Given the description of an element on the screen output the (x, y) to click on. 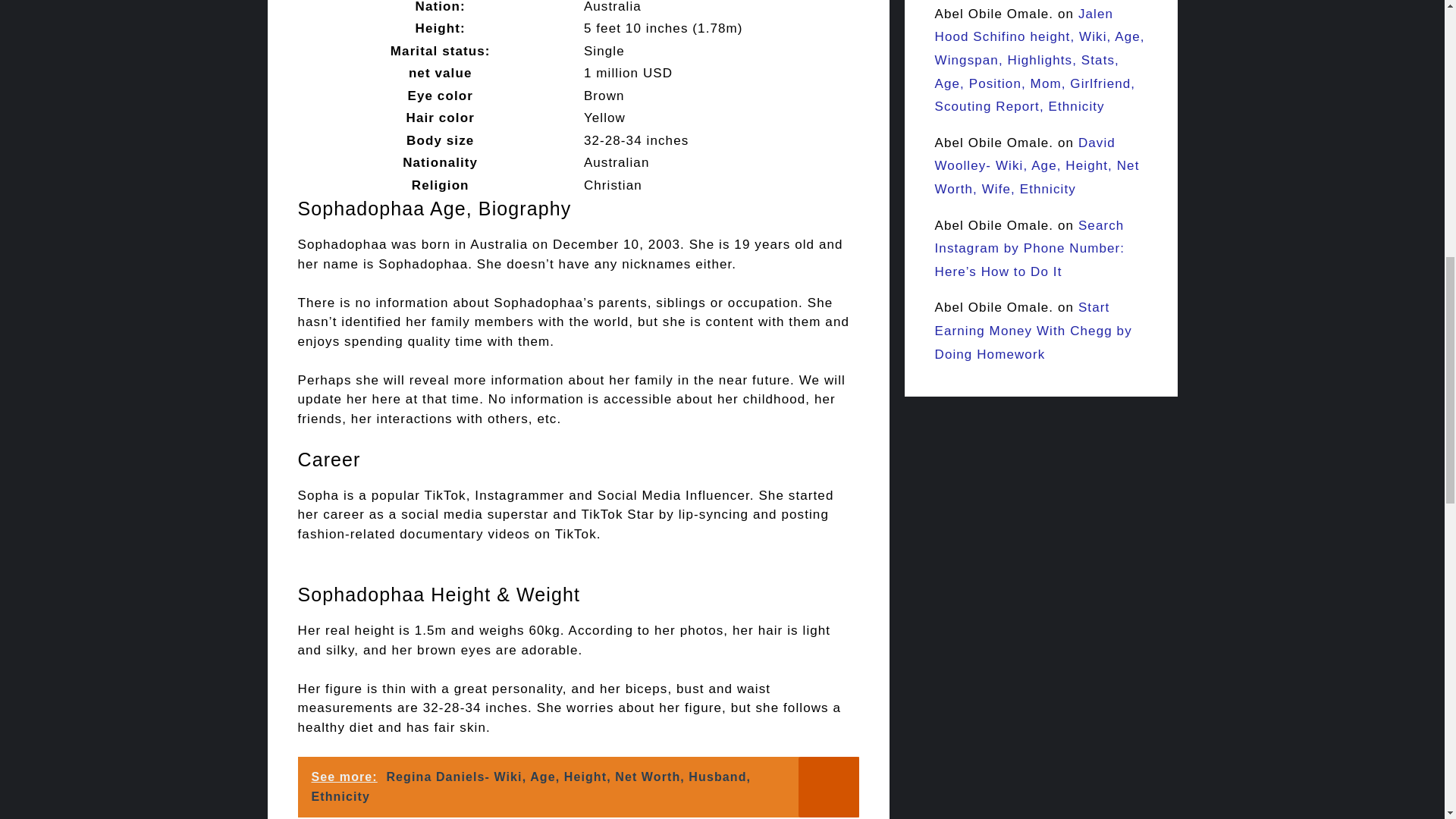
David Woolley- Wiki, Age, Height, Net Worth, Wife, Ethnicity (1036, 165)
Start Earning Money With Chegg by Doing Homework (1032, 330)
